Given the description of an element on the screen output the (x, y) to click on. 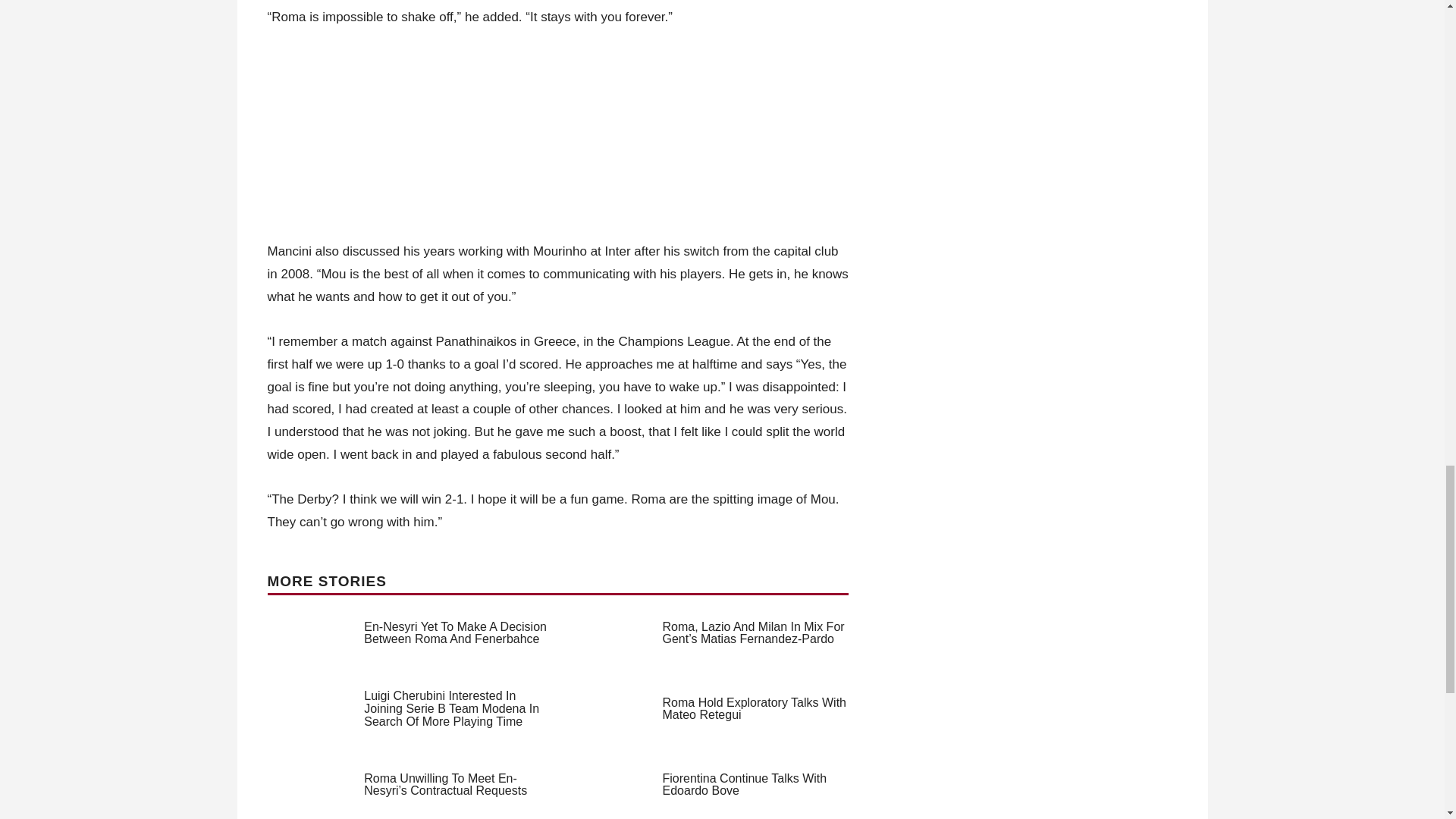
En-Nesyri Yet To Make A Decision Between Roma And Fenerbahce (455, 632)
Fiorentina Continue Talks With Edoardo Bove (744, 784)
Roma Hold Exploratory Talks With Mateo Retegui (753, 708)
